Given the description of an element on the screen output the (x, y) to click on. 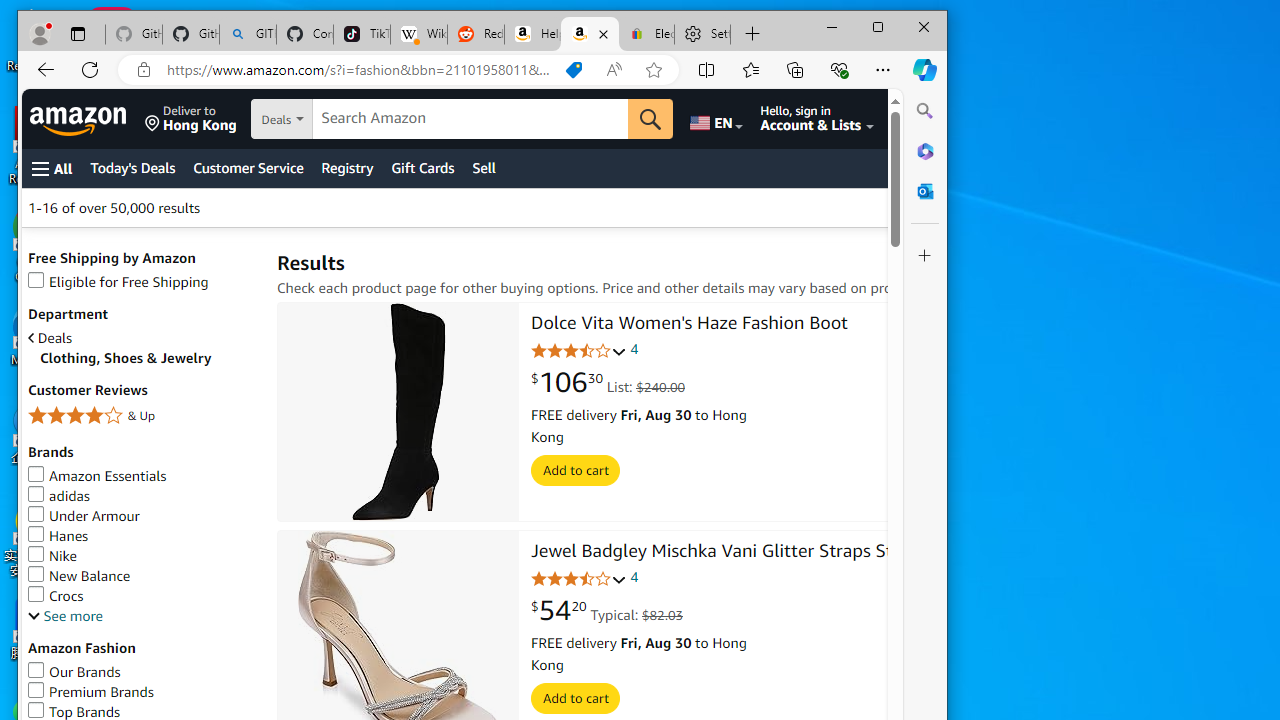
Crocs (56, 596)
Nike (53, 555)
3.5 out of 5 stars (579, 351)
Premium Brands (142, 692)
Search in (350, 120)
Clothing, Shoes & Jewelry (148, 358)
Our Brands (142, 672)
Open Menu (52, 168)
Amazon (80, 119)
Crocs (142, 596)
adidas (142, 496)
Today's Deals (132, 168)
